Given the description of an element on the screen output the (x, y) to click on. 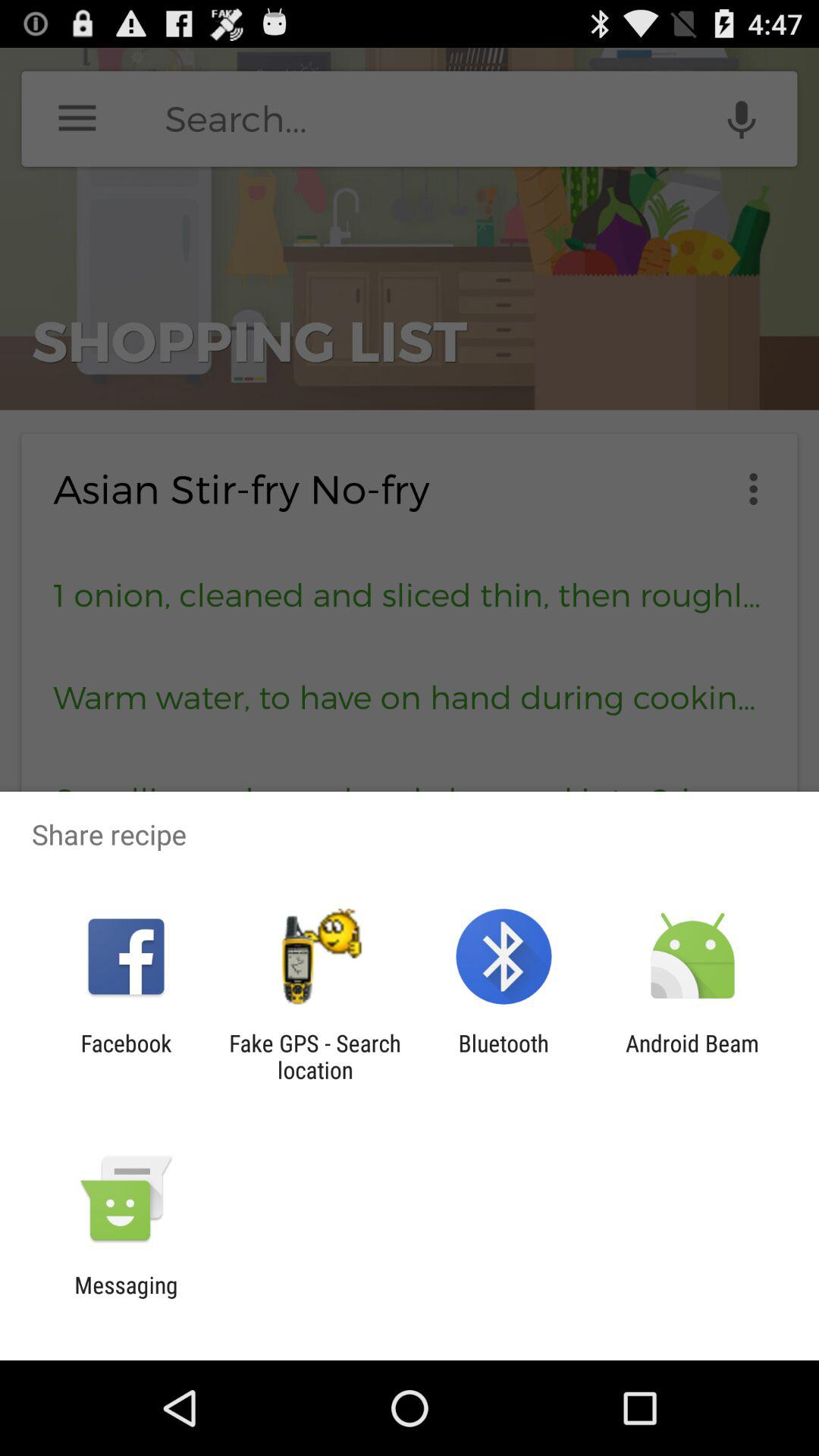
launch the android beam item (692, 1056)
